Given the description of an element on the screen output the (x, y) to click on. 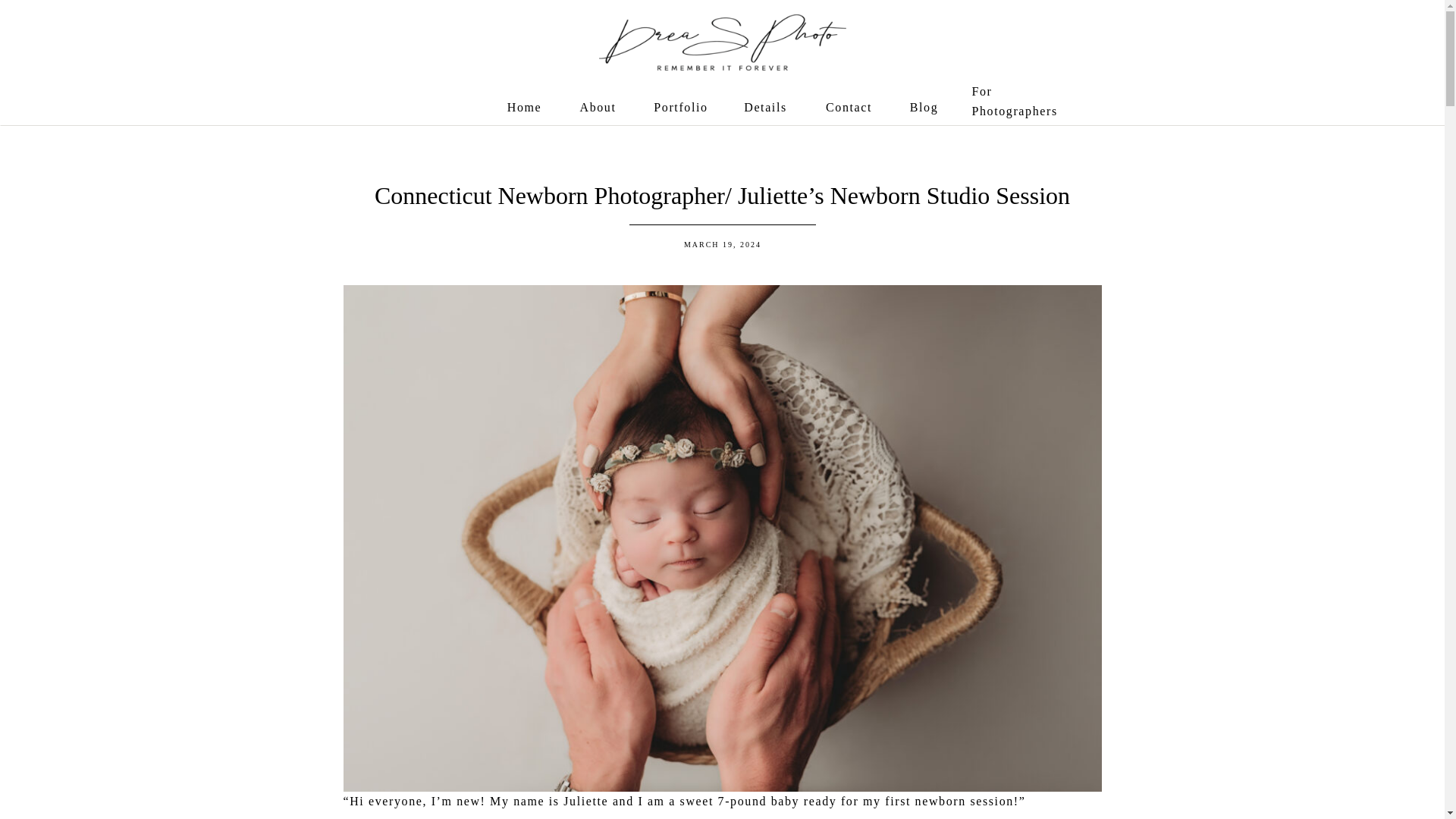
About (598, 107)
Blog (923, 107)
Contact (849, 107)
Details (765, 107)
Home (524, 107)
Portfolio (681, 107)
For Photographers (1015, 99)
